Given the description of an element on the screen output the (x, y) to click on. 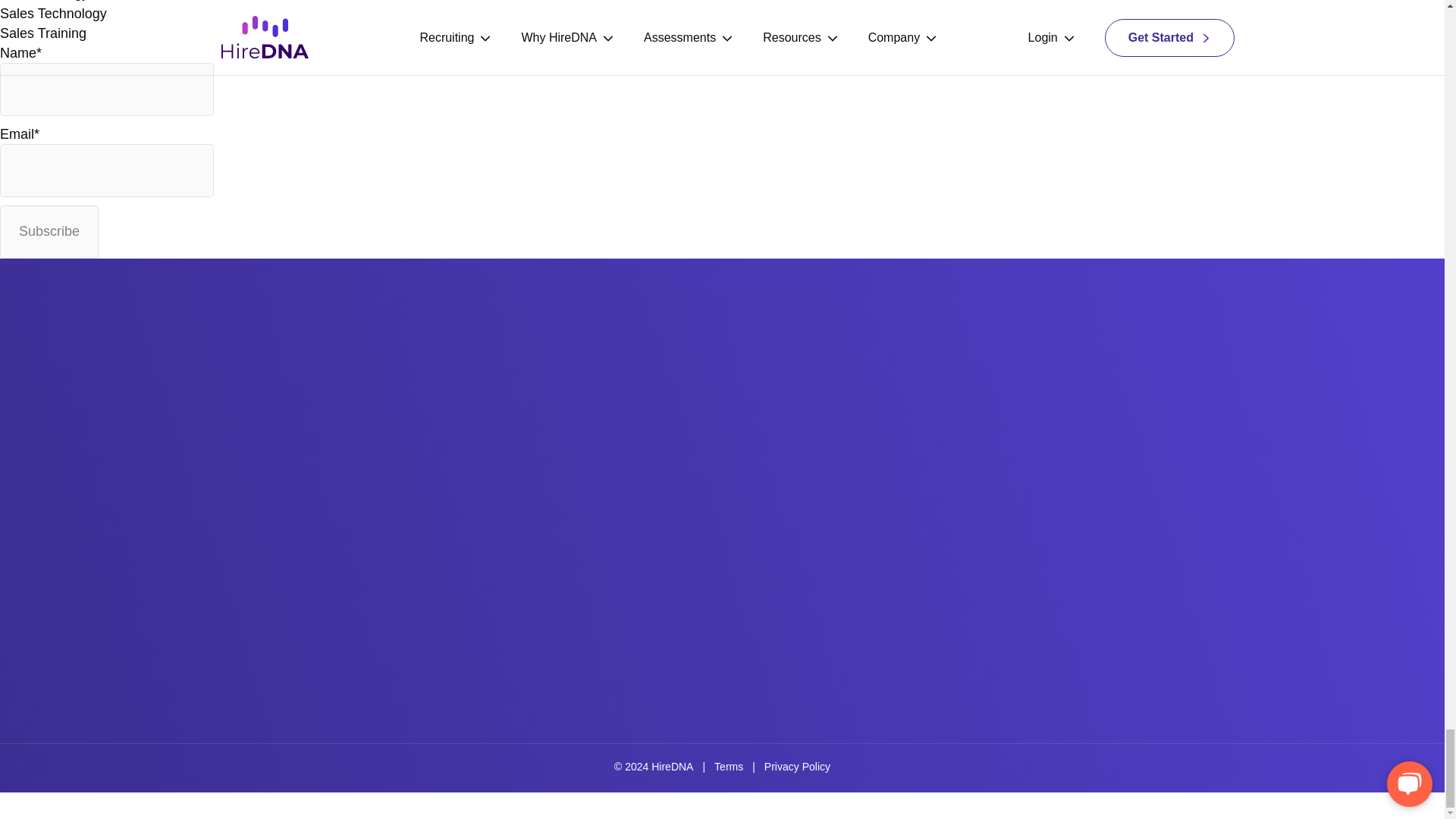
Subscribe (49, 231)
